Given the description of an element on the screen output the (x, y) to click on. 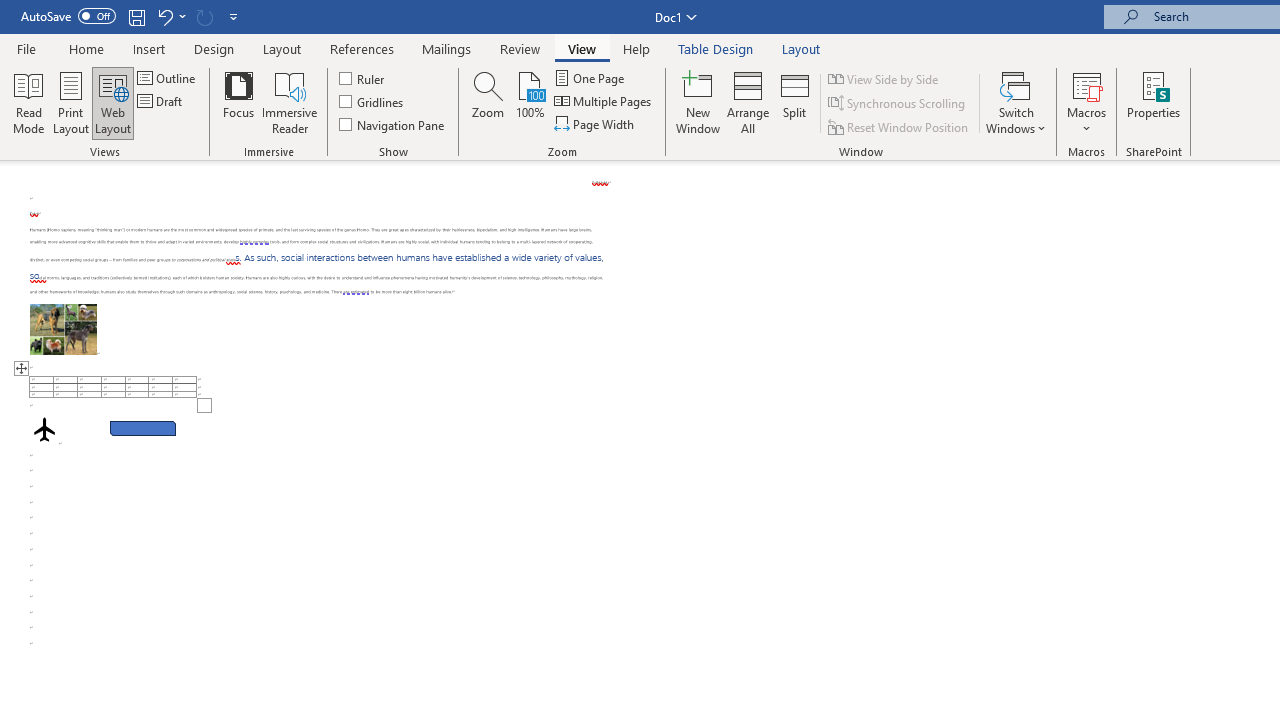
View Side by Side (884, 78)
View Macros (1086, 84)
Arrange All (747, 102)
Gridlines (372, 101)
Undo Row Height Spinner (164, 15)
